Given the description of an element on the screen output the (x, y) to click on. 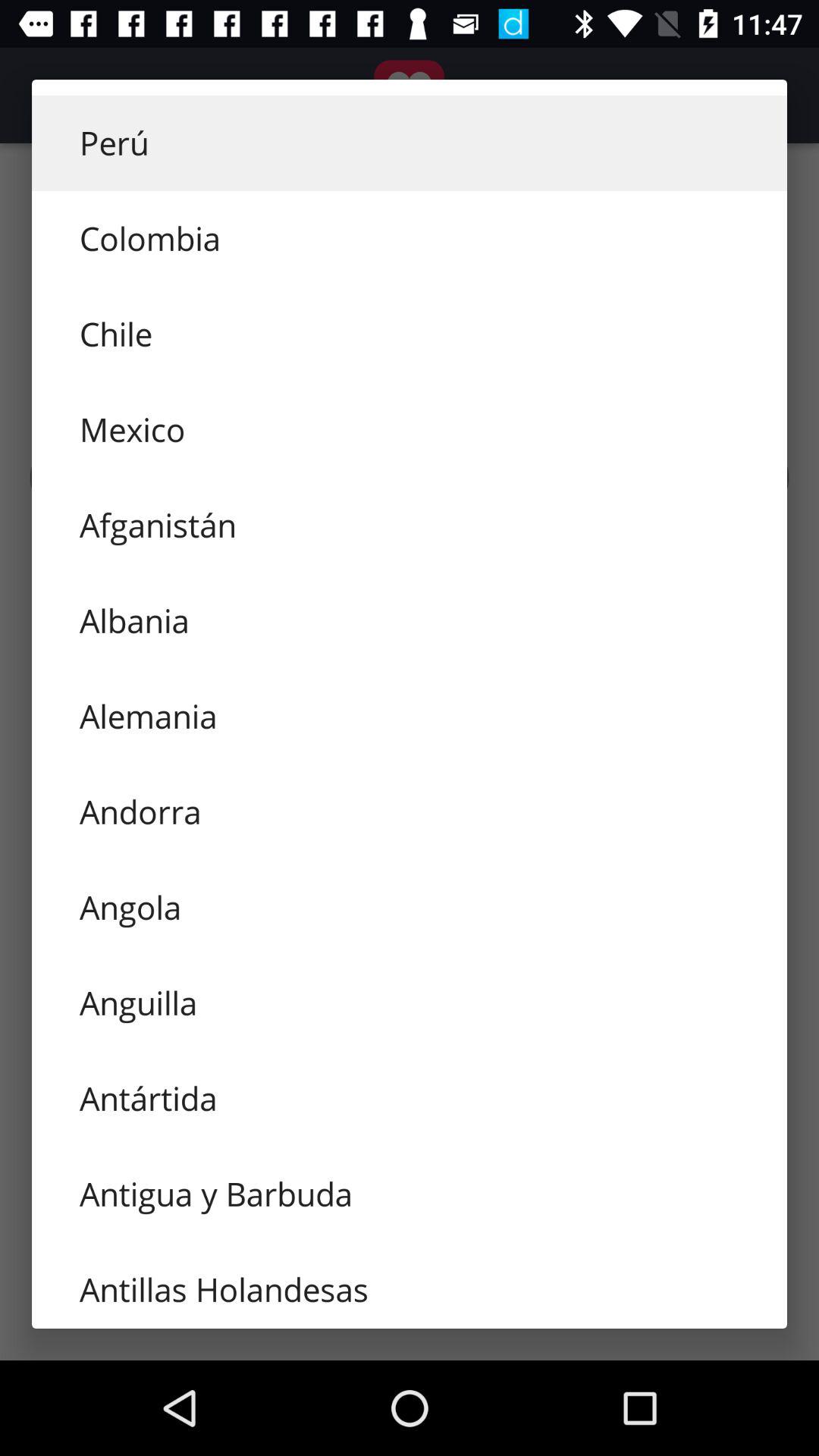
turn on icon above anguilla icon (409, 907)
